Given the description of an element on the screen output the (x, y) to click on. 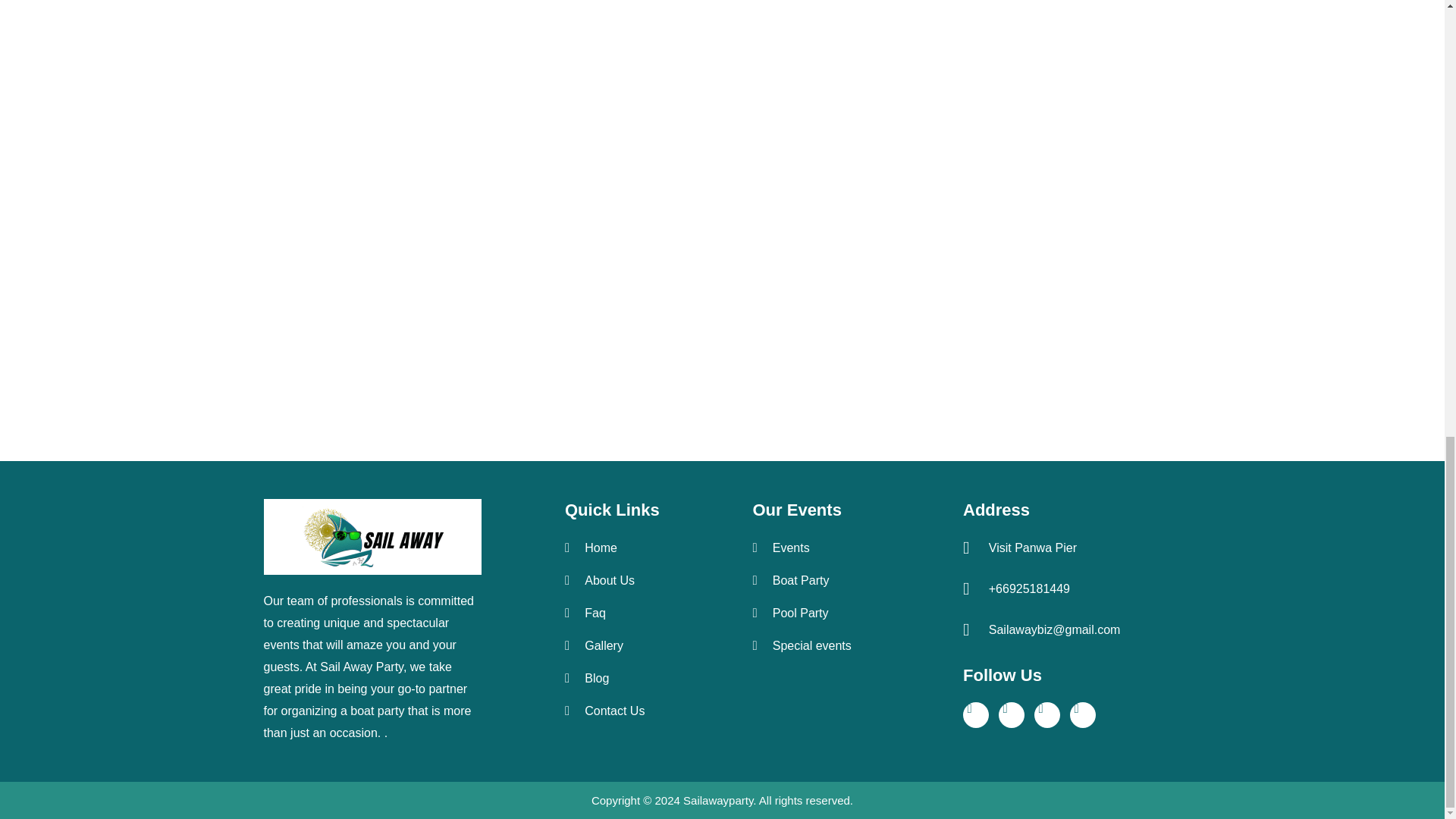
Home (639, 548)
Blog (639, 678)
Pool Party (849, 612)
Gallery (639, 644)
About Us (639, 579)
Faq (639, 612)
Boat Party (849, 579)
Contact Us (639, 710)
Events (849, 548)
